Given the description of an element on the screen output the (x, y) to click on. 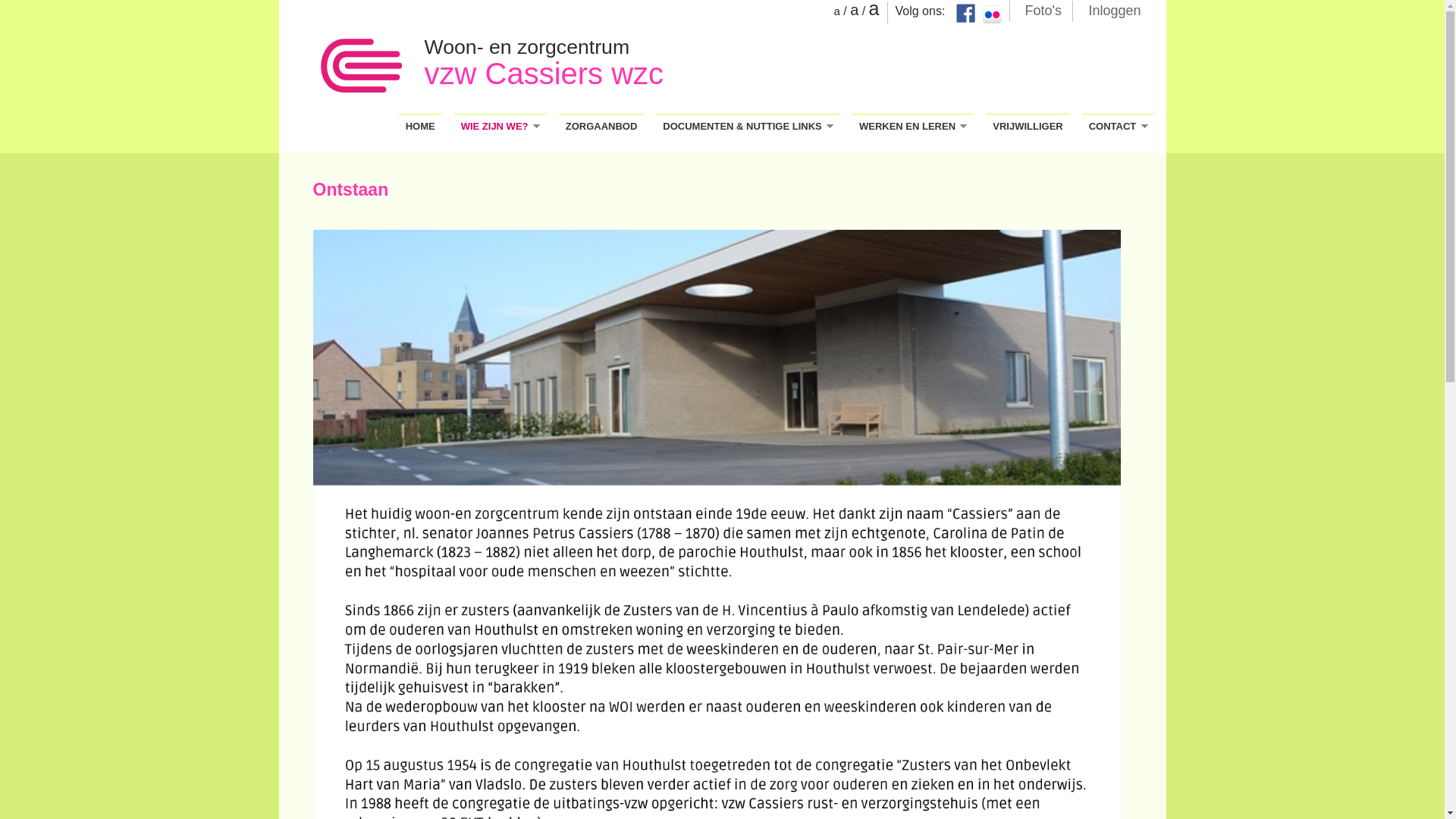
Inloggen Element type: text (1114, 9)
Flickr Element type: hover (991, 14)
HOME Element type: text (420, 125)
Facebook Element type: hover (964, 12)
VRIJWILLIGER Element type: text (1027, 125)
Home Page Element type: hover (360, 67)
ZORGAANBOD Element type: text (601, 125)
Foto's Element type: text (1043, 9)
